Given the description of an element on the screen output the (x, y) to click on. 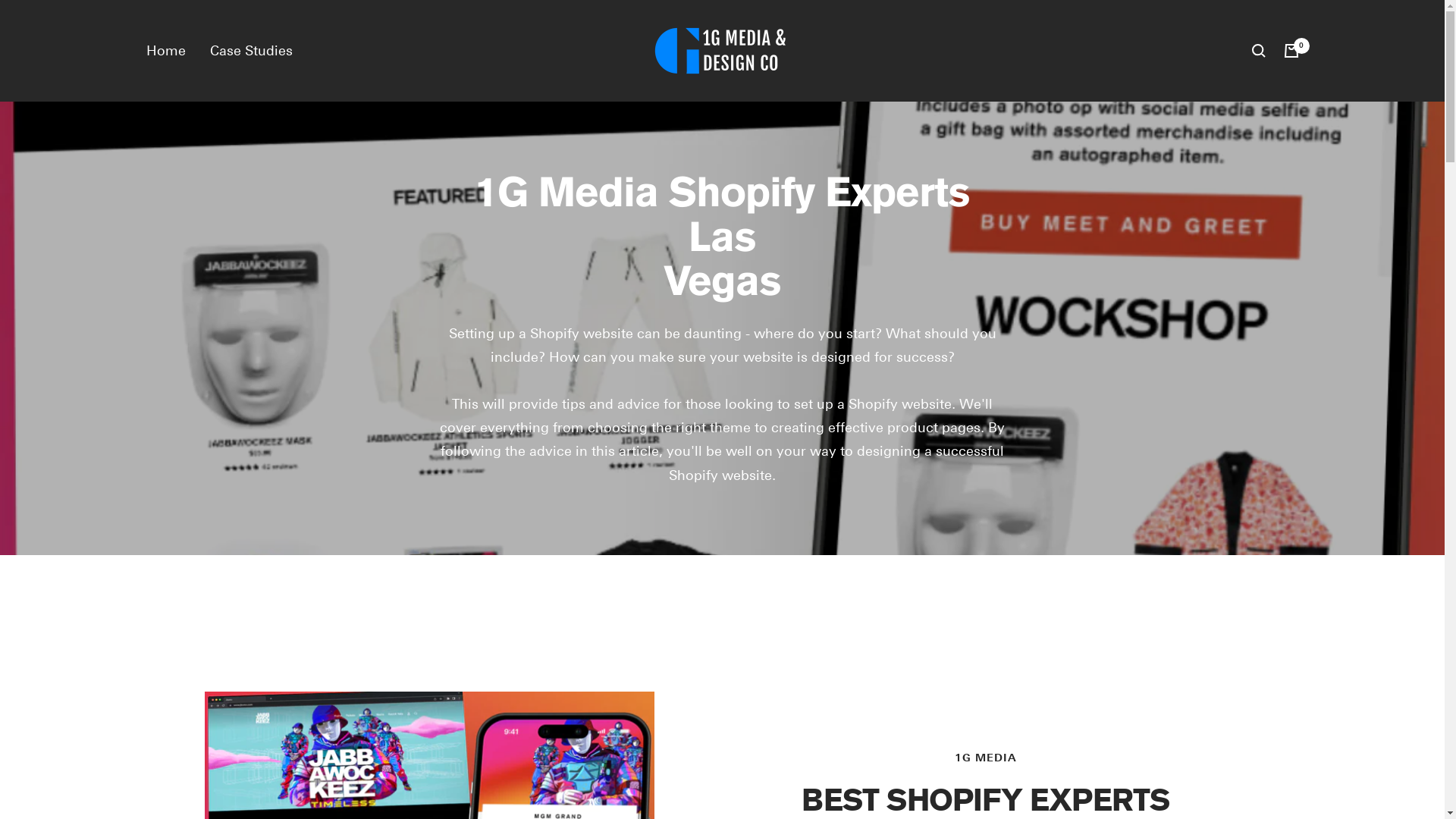
1G Media Element type: text (722, 50)
Home Element type: text (165, 50)
0 Element type: text (1290, 50)
Case Studies Element type: text (250, 50)
